Given the description of an element on the screen output the (x, y) to click on. 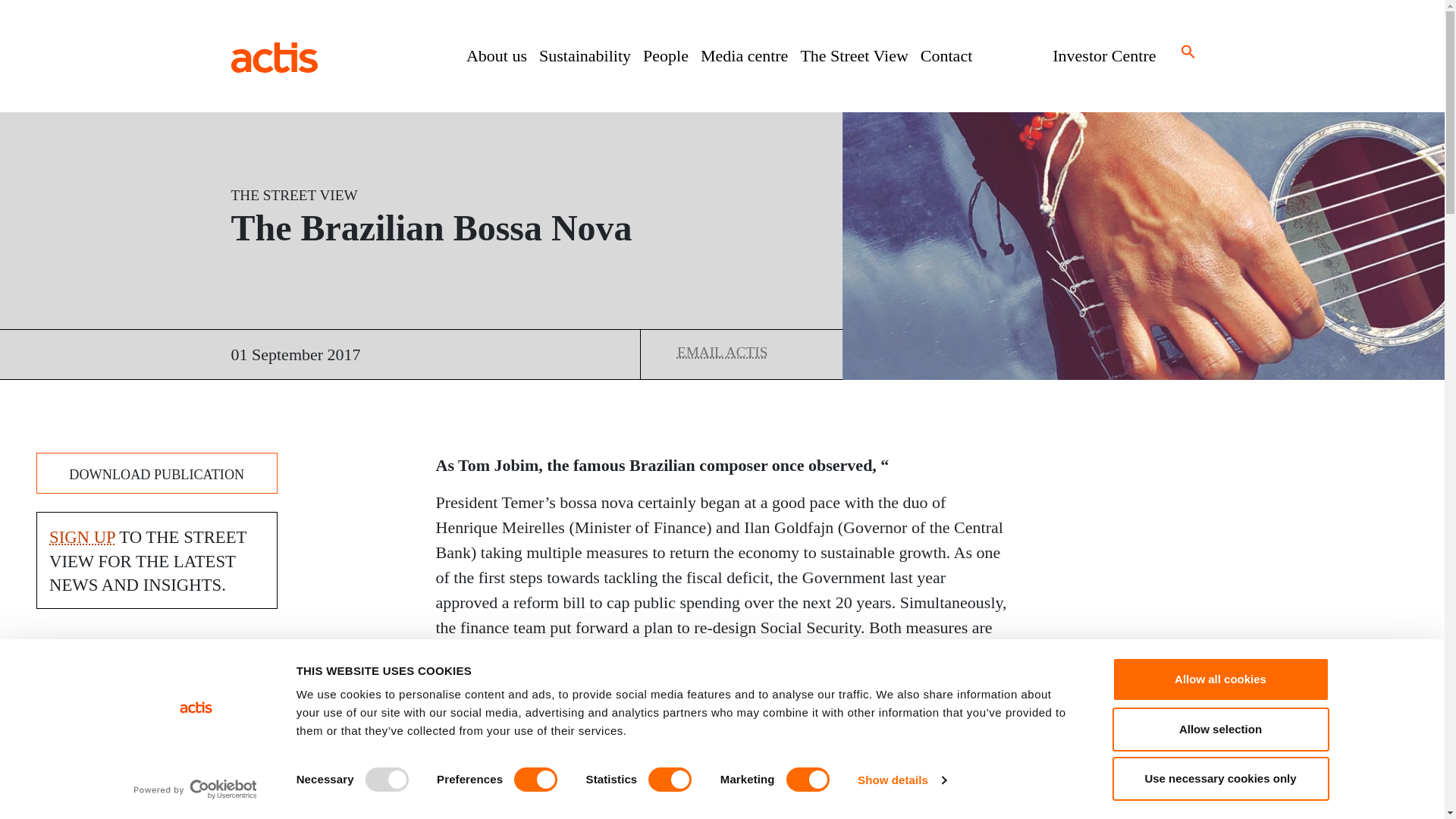
Actis (273, 56)
Show details (900, 780)
